Given the description of an element on the screen output the (x, y) to click on. 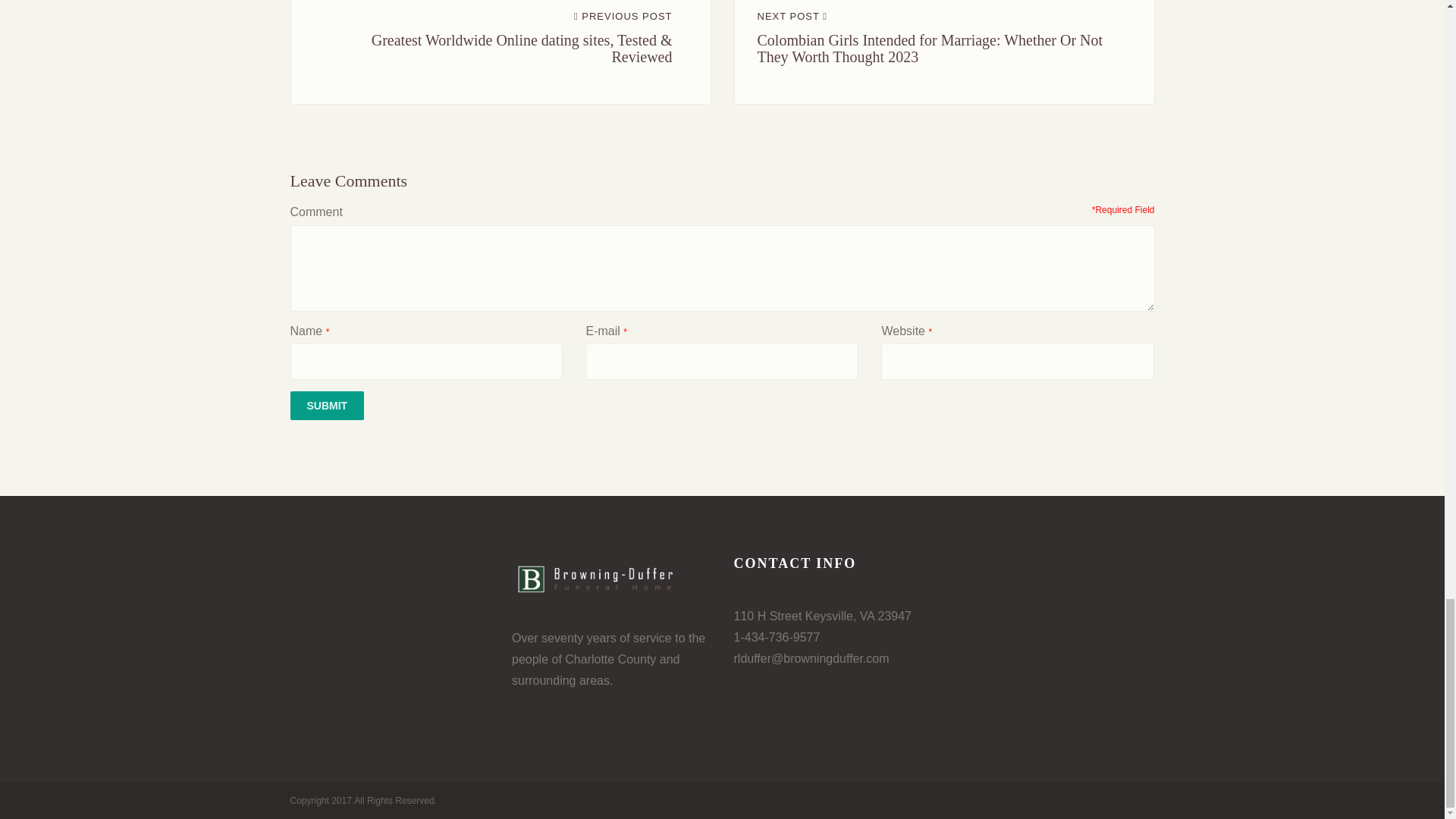
Submit (326, 405)
NEXT POST (792, 16)
PREVIOUS POST (622, 16)
Submit (326, 405)
